Given the description of an element on the screen output the (x, y) to click on. 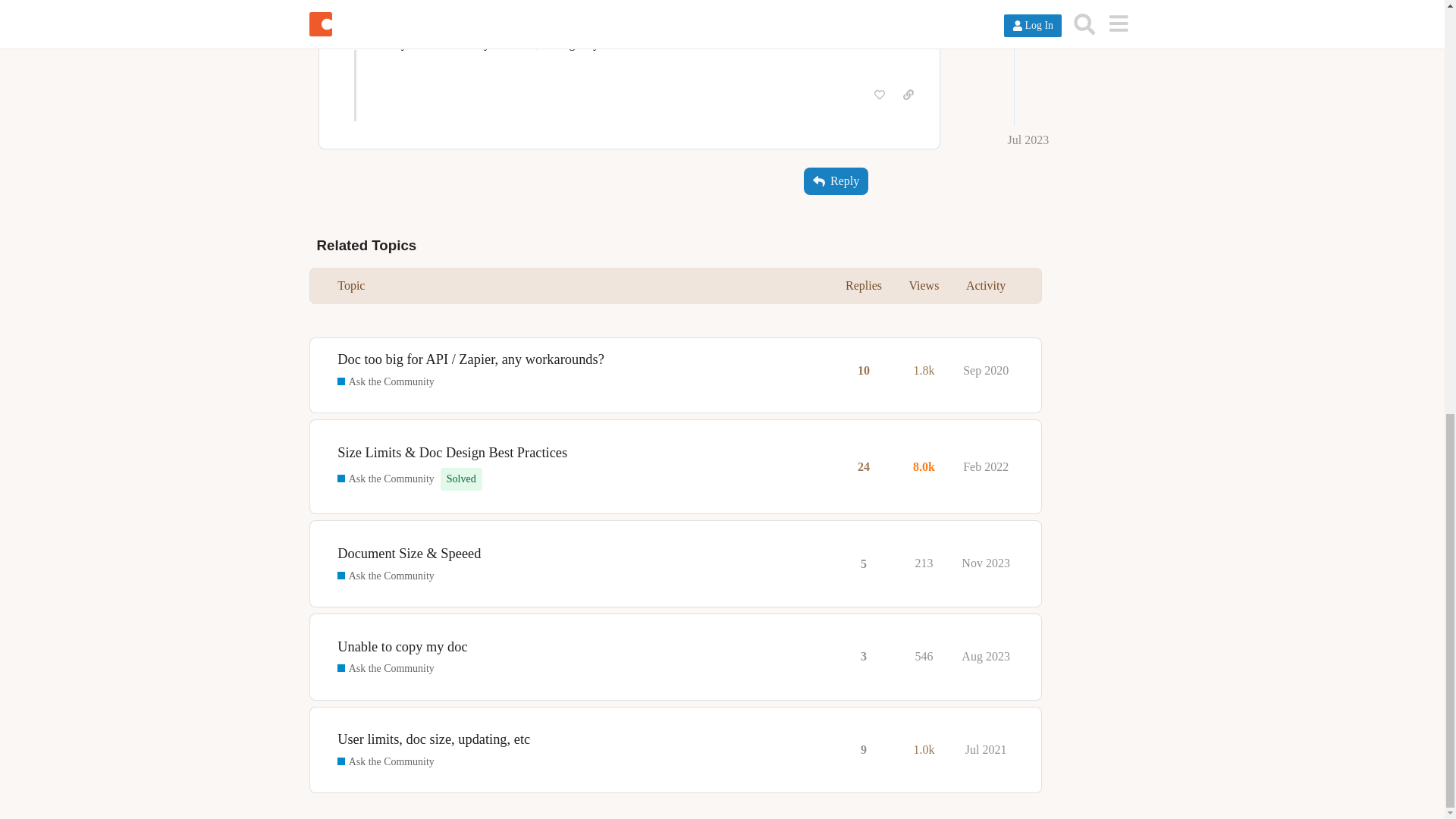
Reply (835, 180)
Ask the Community (385, 381)
10 (863, 370)
Jul 2023 (893, 10)
